Given the description of an element on the screen output the (x, y) to click on. 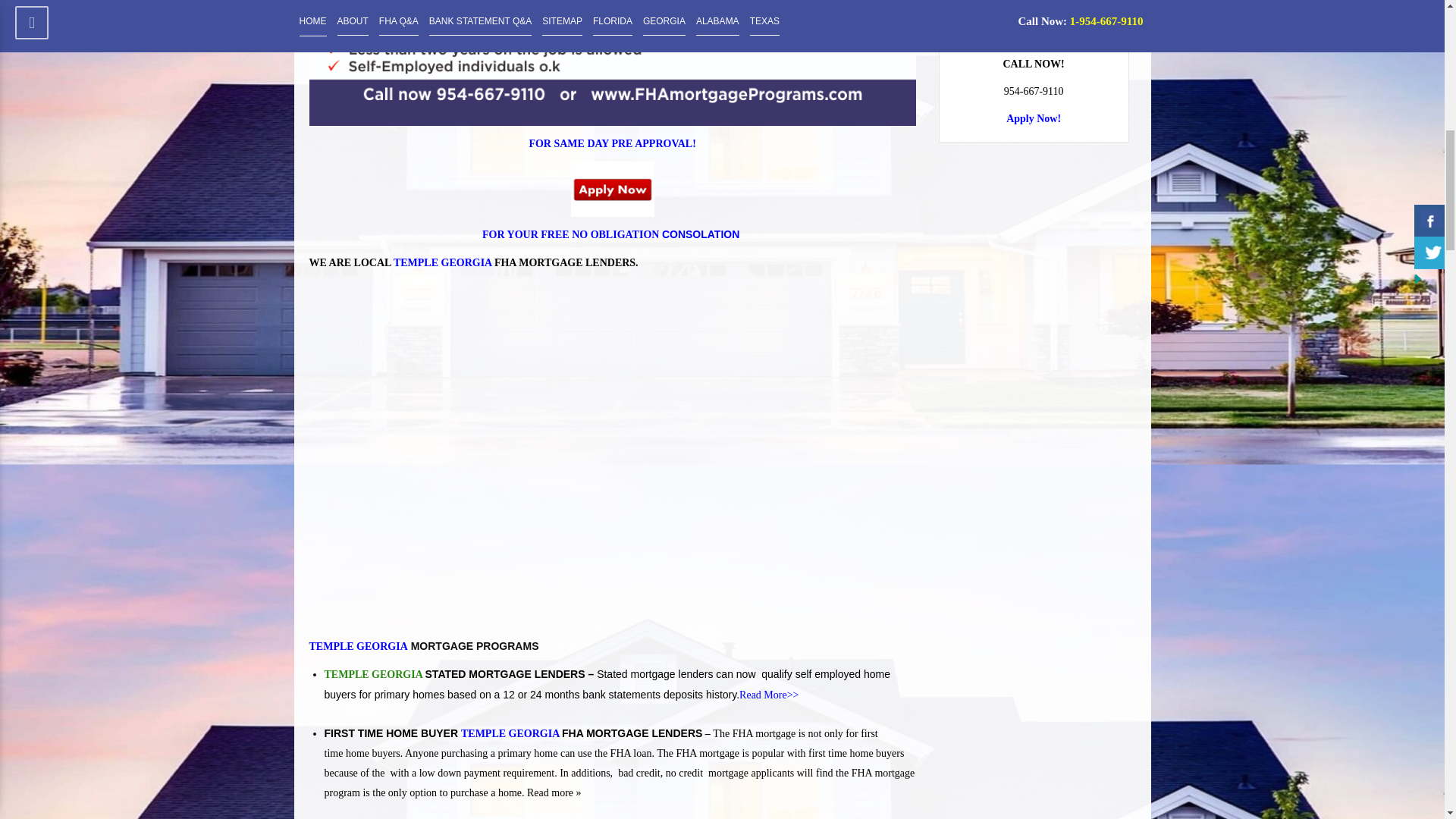
TEMPLE GEORGIA (374, 674)
bad credit, (639, 772)
FIRST TIME HOME BUYER TEMPLE GEORGIA FHA MORTGAGE LENDERS (513, 733)
no credit (685, 772)
